Given the description of an element on the screen output the (x, y) to click on. 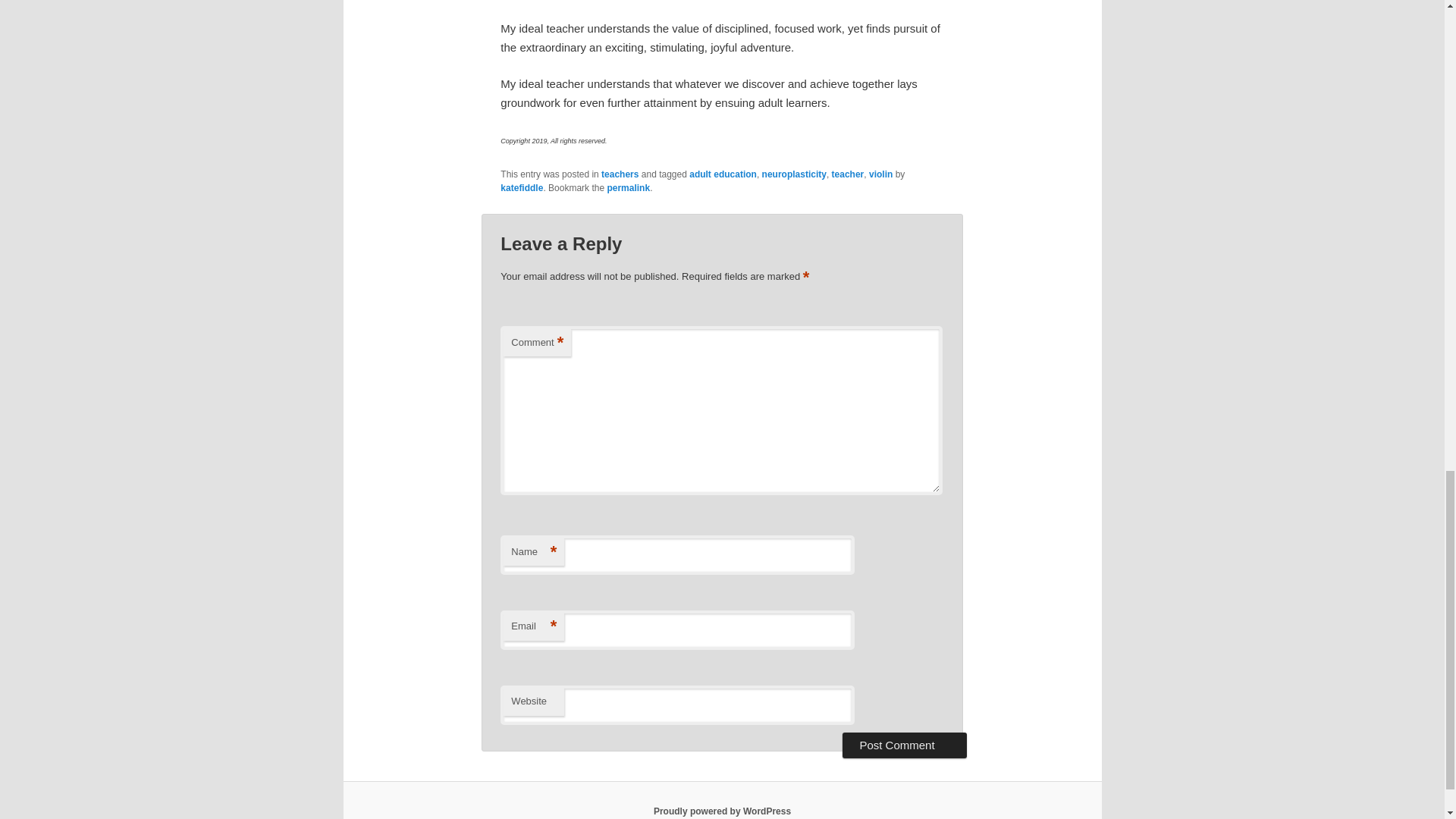
Post Comment (904, 745)
violin (880, 173)
Proudly powered by WordPress (721, 810)
Permalink to My Ideal Teacher (628, 187)
teacher (847, 173)
Post Comment (904, 745)
neuroplasticity (794, 173)
permalink (628, 187)
Semantic Personal Publishing Platform (721, 810)
adult education (722, 173)
